Given the description of an element on the screen output the (x, y) to click on. 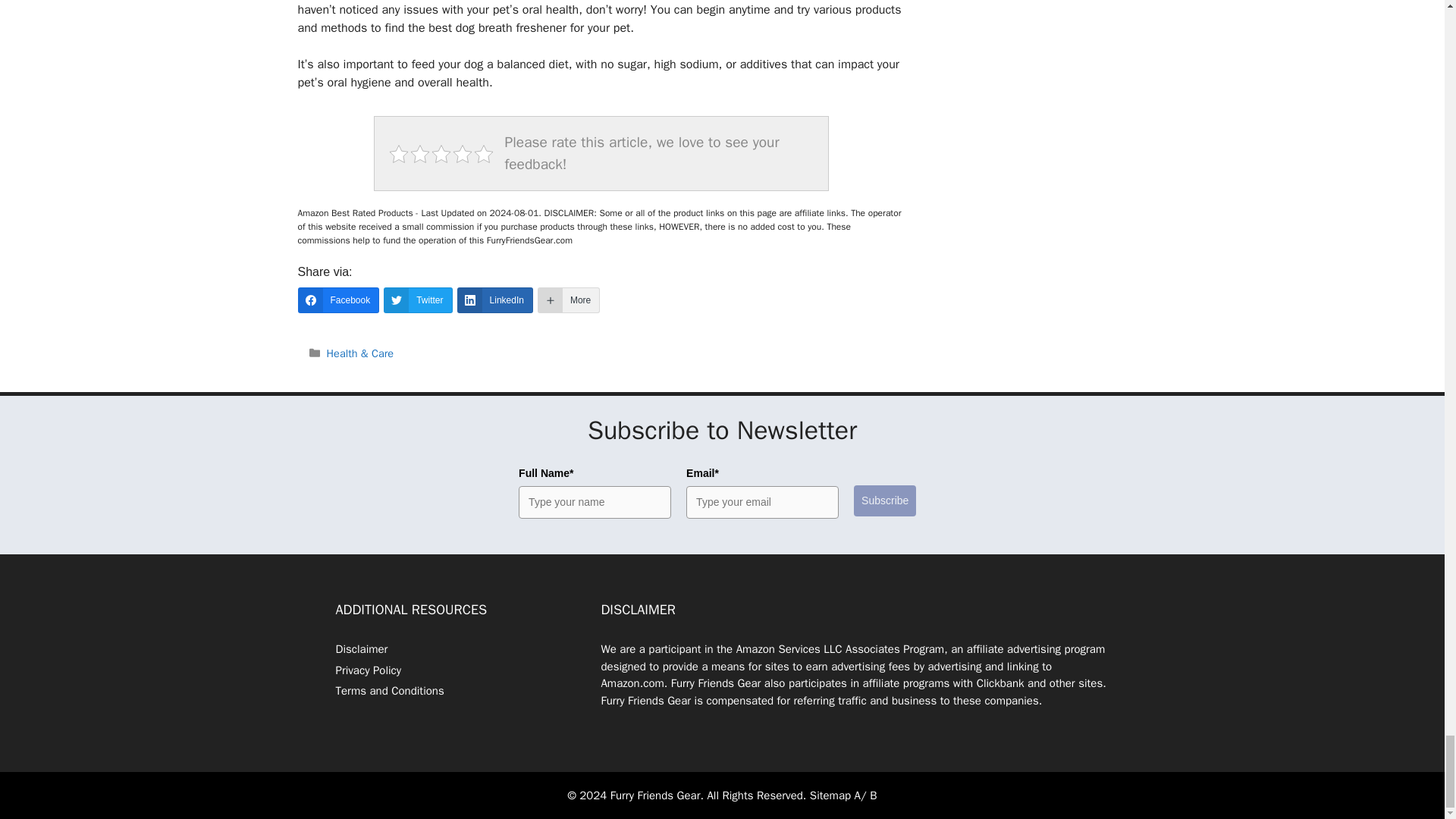
Facebook (337, 299)
LinkedIn (494, 299)
Twitter (417, 299)
